Given the description of an element on the screen output the (x, y) to click on. 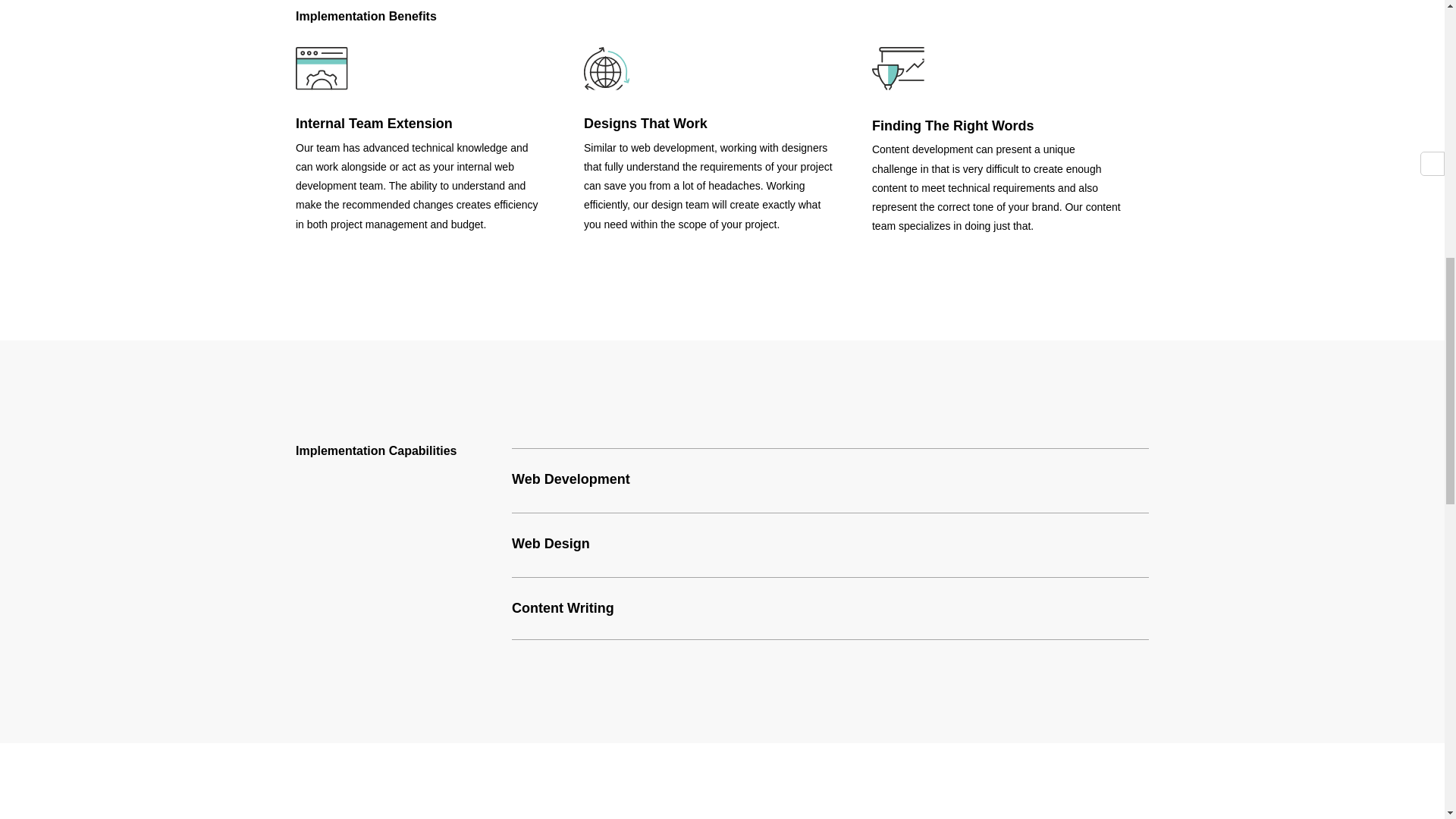
Web Development (571, 479)
Content Writing (563, 608)
Web Design (550, 544)
